Given the description of an element on the screen output the (x, y) to click on. 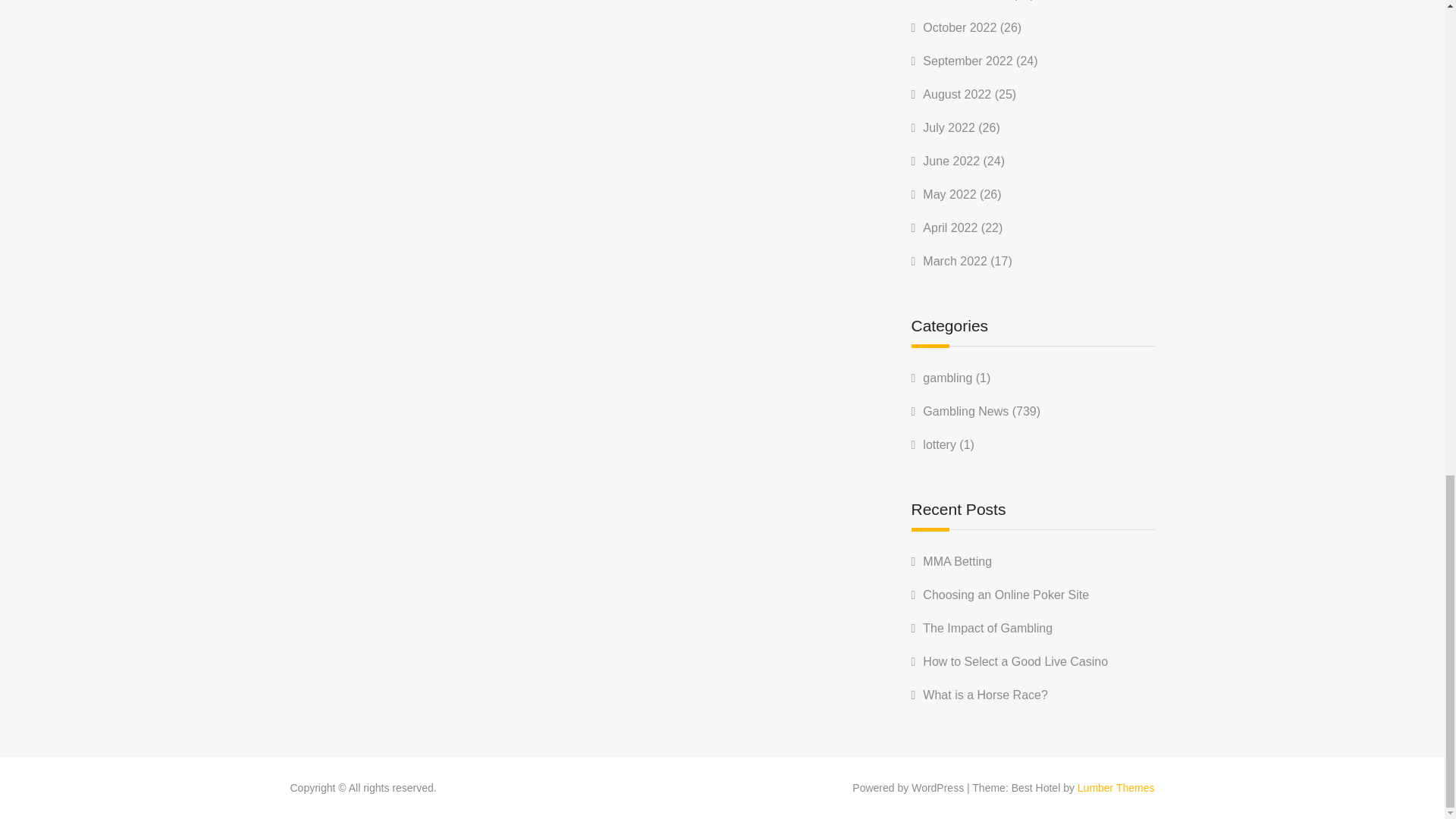
June 2022 (951, 160)
August 2022 (957, 93)
September 2022 (967, 60)
October 2022 (959, 27)
July 2022 (949, 127)
